Given the description of an element on the screen output the (x, y) to click on. 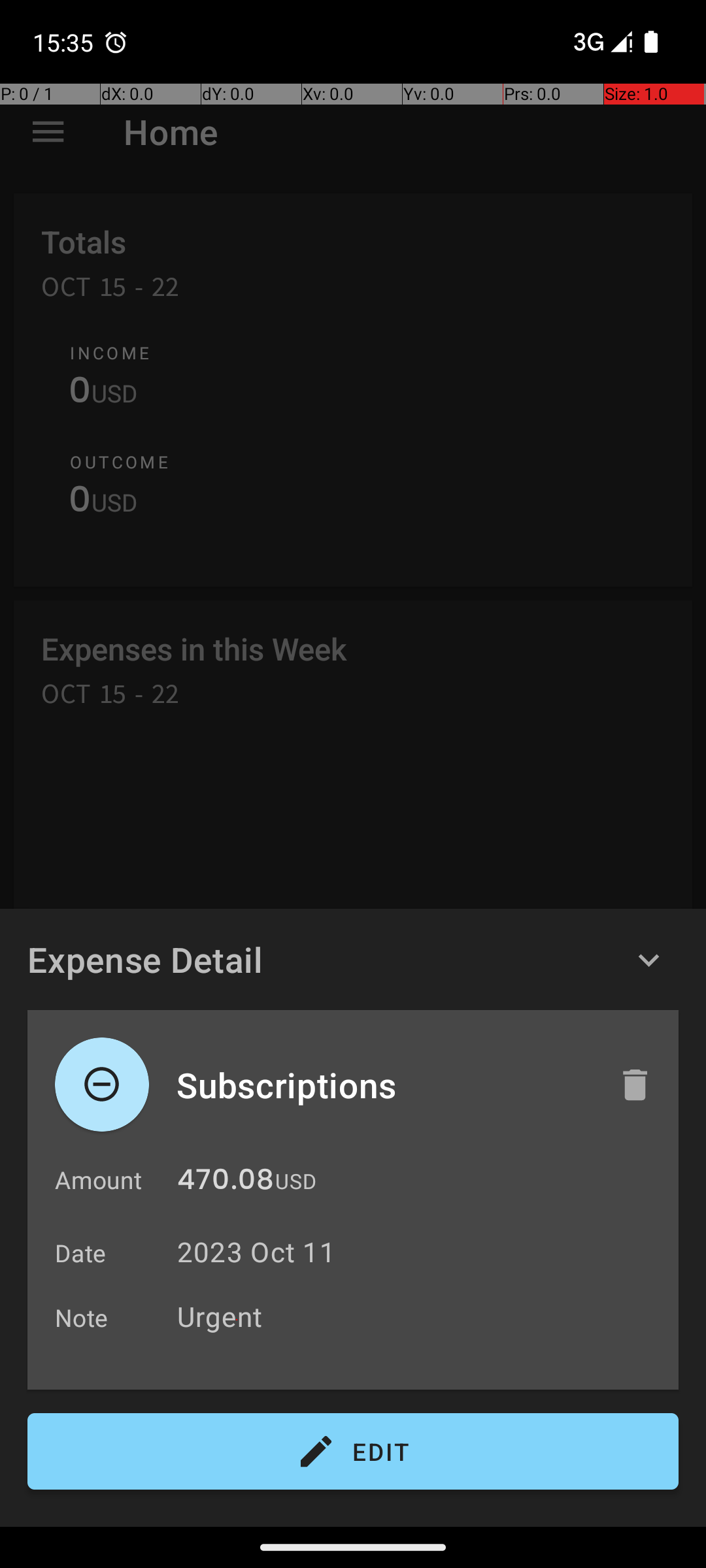
470.08 Element type: android.widget.TextView (225, 1182)
